Given the description of an element on the screen output the (x, y) to click on. 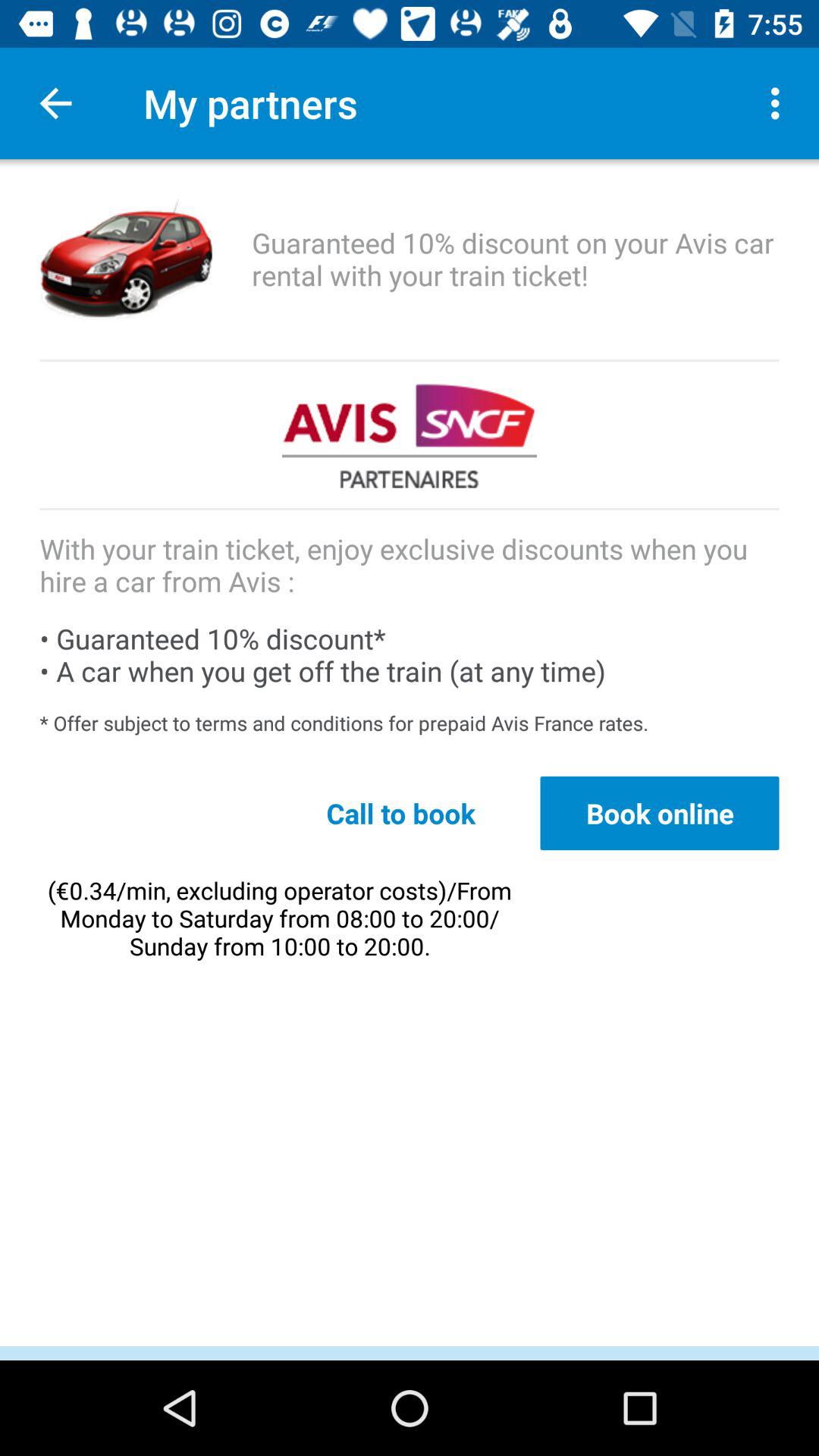
turn off the item below the offer subject to (659, 813)
